Given the description of an element on the screen output the (x, y) to click on. 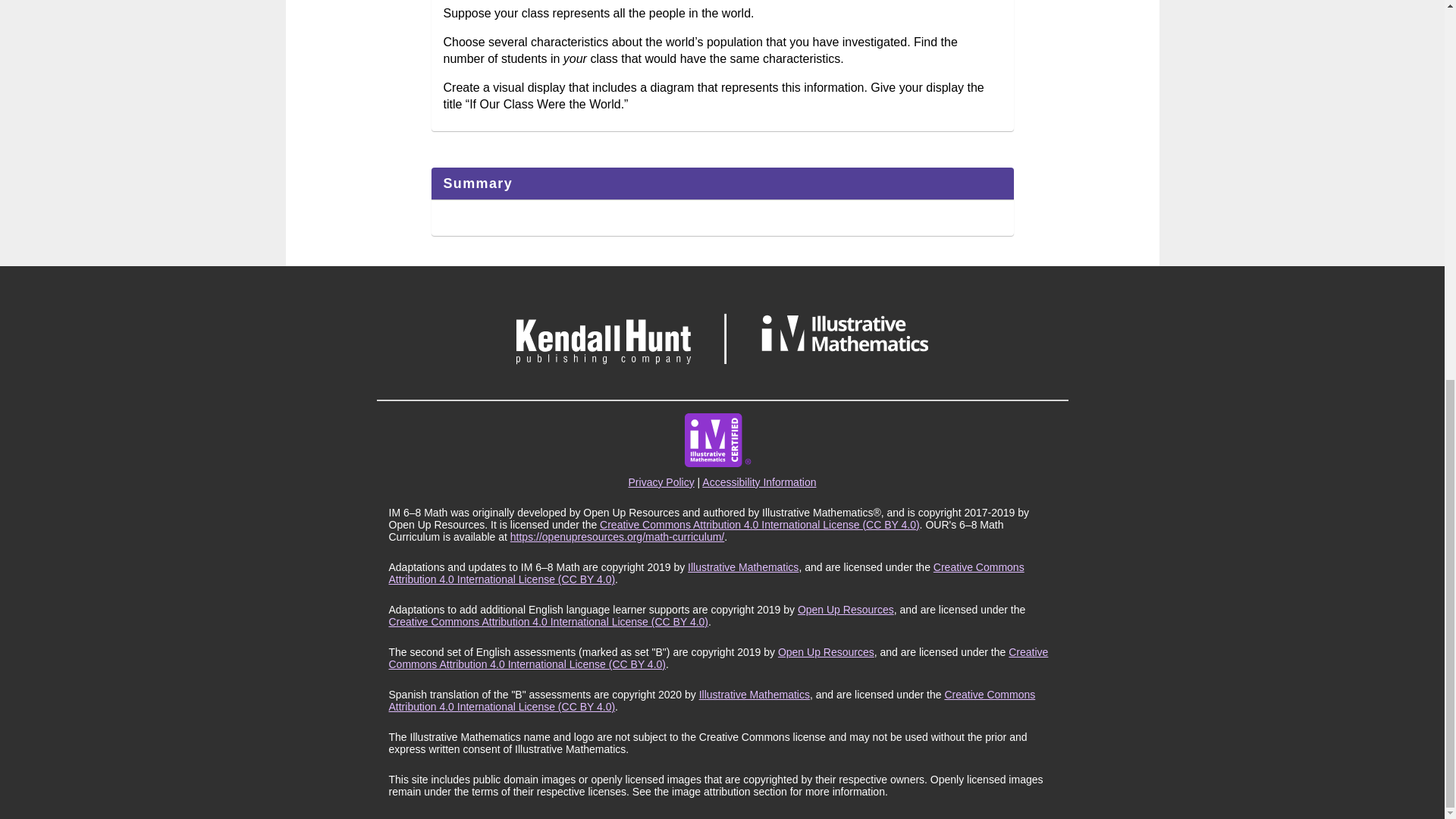
Accessibility Information (758, 481)
Illustrative Mathematics (742, 567)
Open Up Resources (845, 609)
Privacy Policy (661, 481)
